Given the description of an element on the screen output the (x, y) to click on. 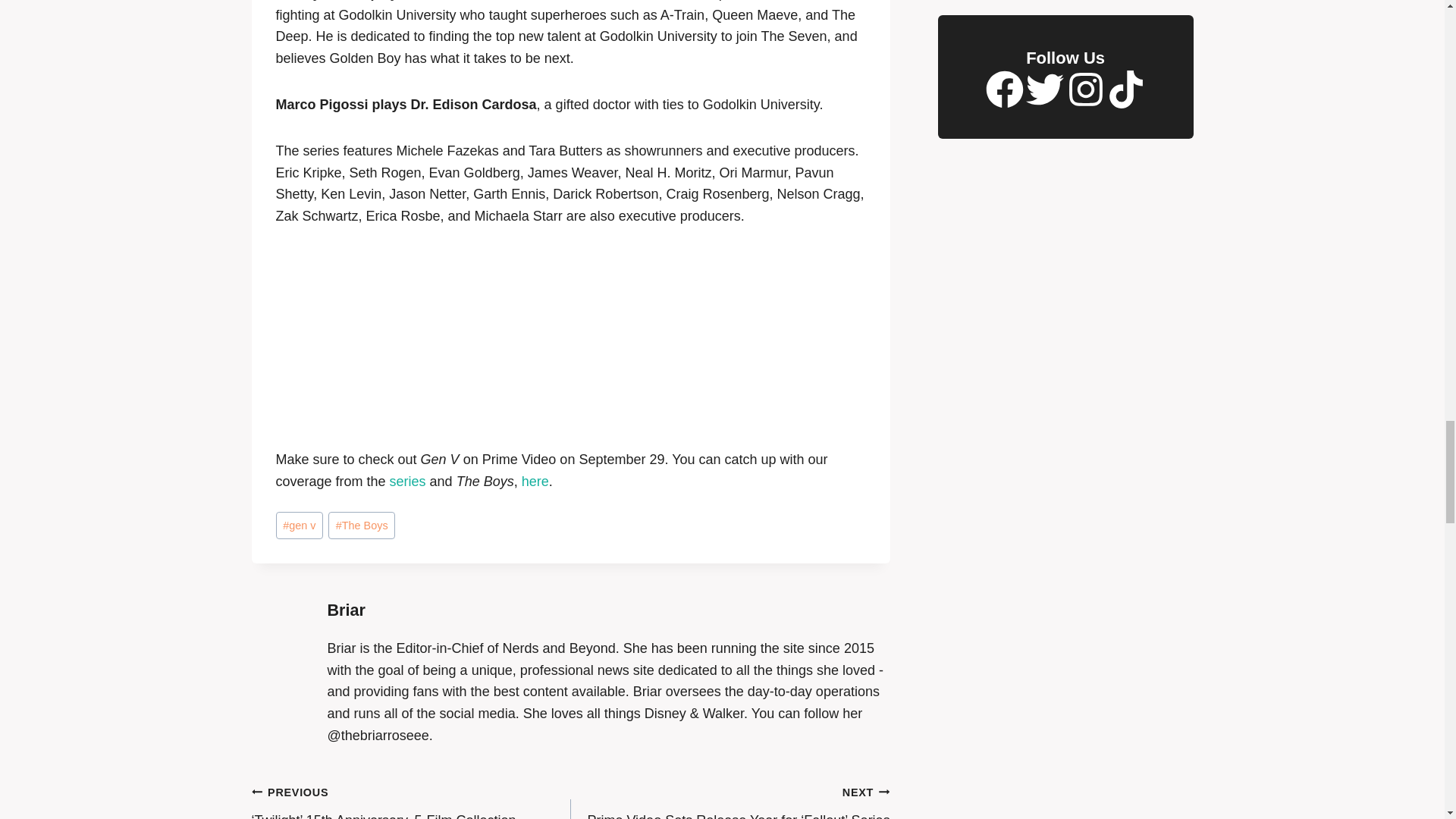
gen v (299, 525)
The Boys (361, 525)
Posts by Briar (346, 609)
